Given the description of an element on the screen output the (x, y) to click on. 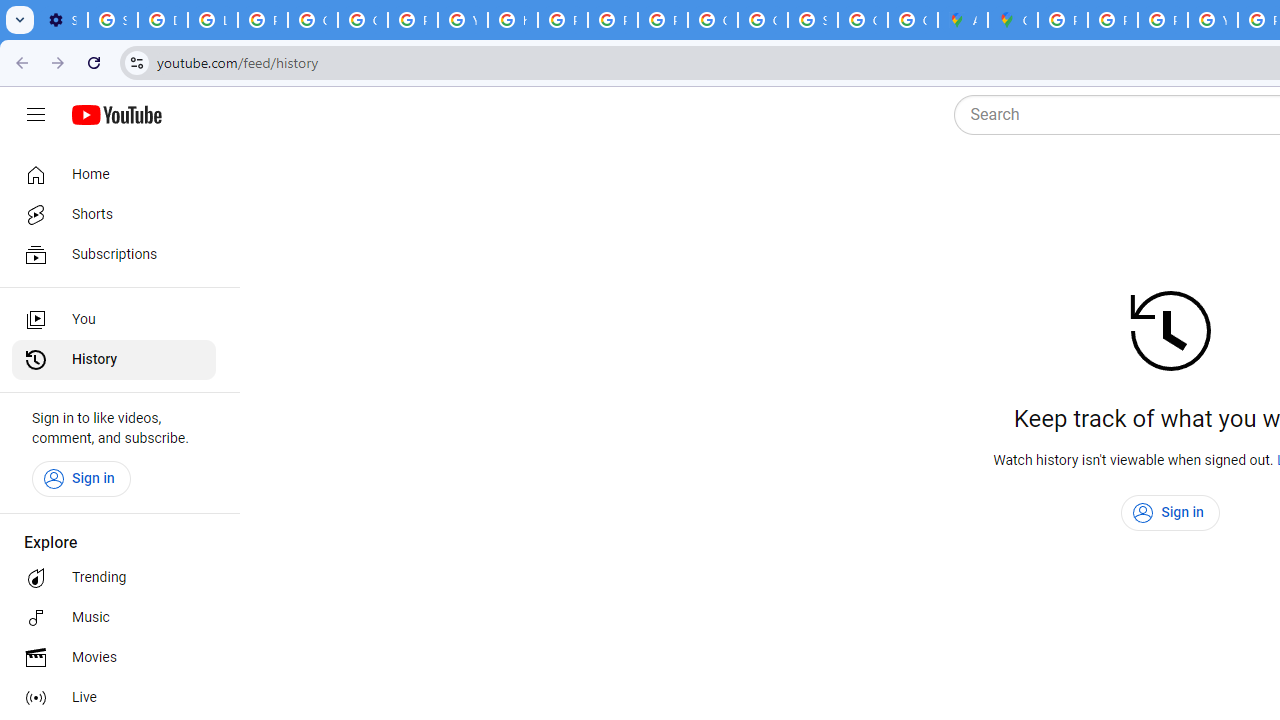
Subscriptions (113, 254)
Policy Accountability and Transparency - Transparency Center (1062, 20)
Privacy Help Center - Policies Help (562, 20)
Sign in - Google Accounts (113, 20)
Privacy Help Center - Policies Help (1112, 20)
Google Account Help (312, 20)
Live (113, 697)
Shorts (113, 214)
Movies (113, 657)
Google Maps (1013, 20)
